Given the description of an element on the screen output the (x, y) to click on. 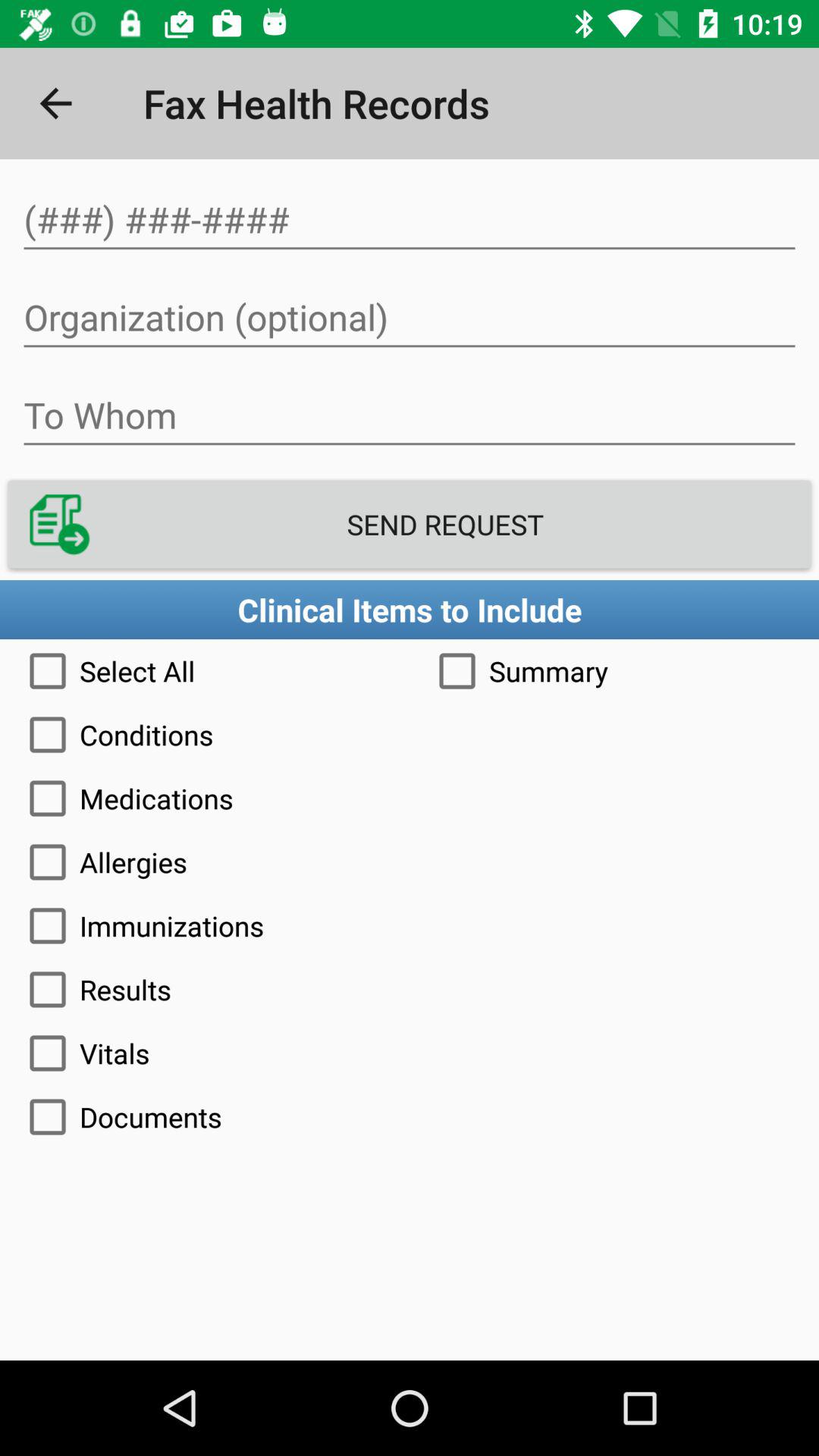
organization name (409, 317)
